Given the description of an element on the screen output the (x, y) to click on. 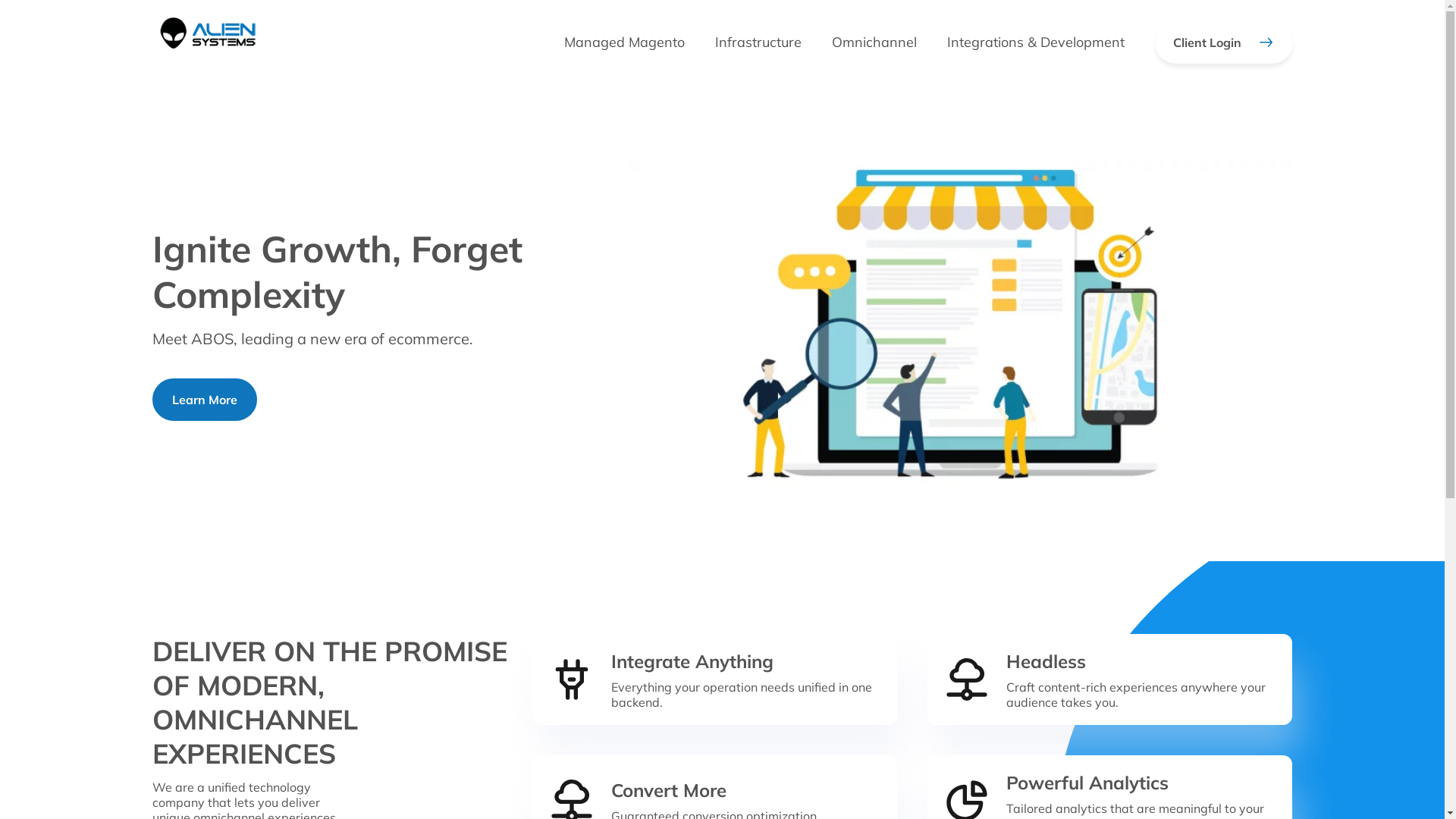
Omnichannel Element type: text (873, 41)
Infrastructure Element type: text (757, 41)
Managed Magento Element type: text (624, 41)
Client Login Element type: text (1223, 42)
Integrations & Development Element type: text (1034, 41)
Learn More Element type: text (203, 399)
